Given the description of an element on the screen output the (x, y) to click on. 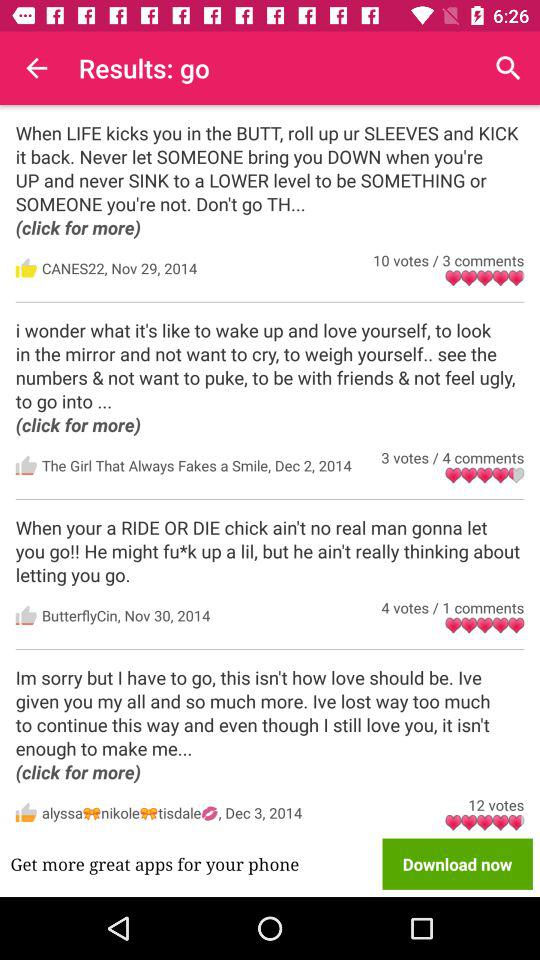
tap icon above the when life kicks (36, 68)
